Given the description of an element on the screen output the (x, y) to click on. 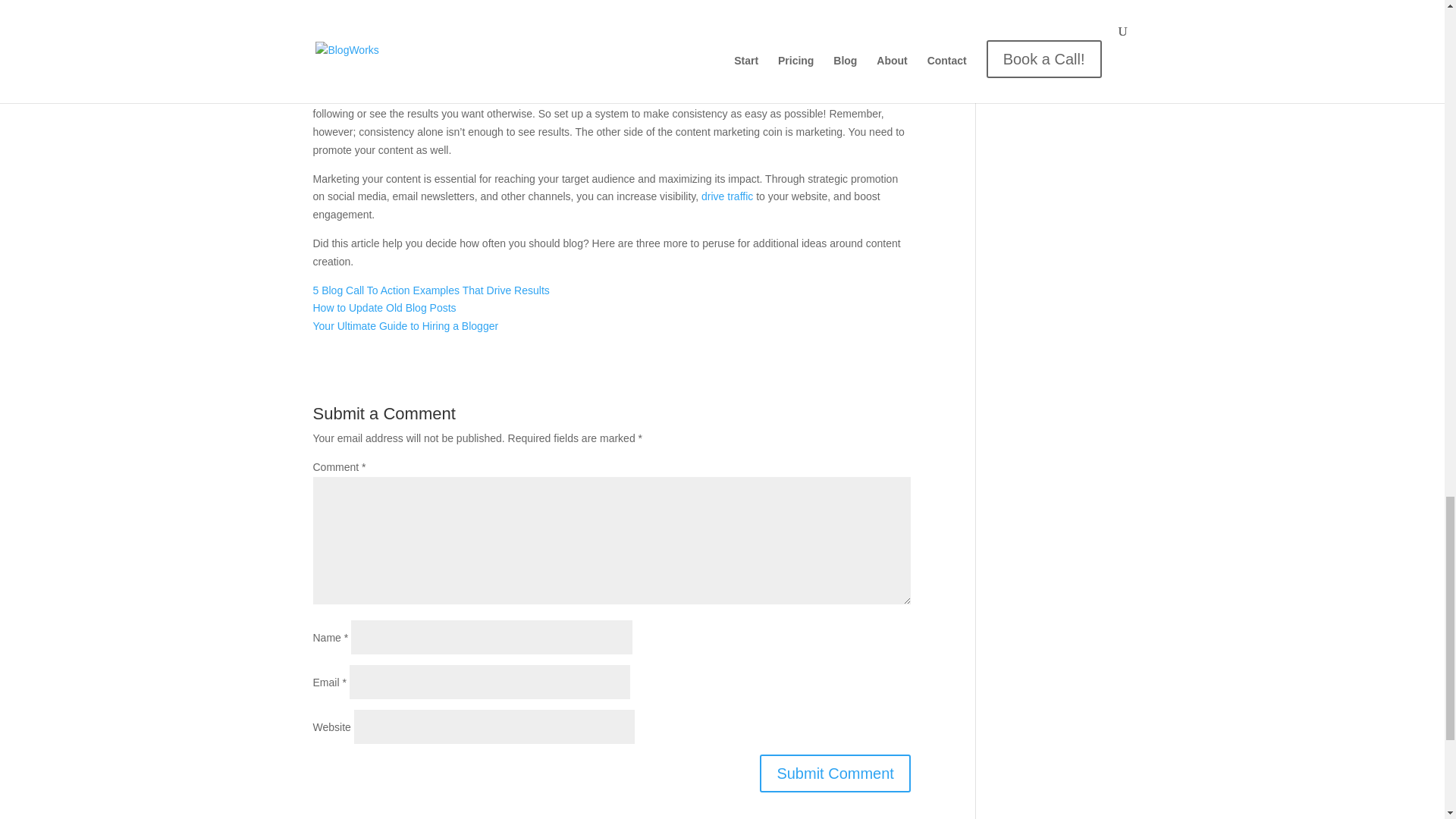
How to Update Old Blog Posts (384, 307)
Submit Comment (835, 773)
Your Ultimate Guide to Hiring a Blogger (405, 326)
Submit Comment (835, 773)
5 Blog Call To Action Examples That Drive Results (430, 290)
drive traffic (726, 196)
